Given the description of an element on the screen output the (x, y) to click on. 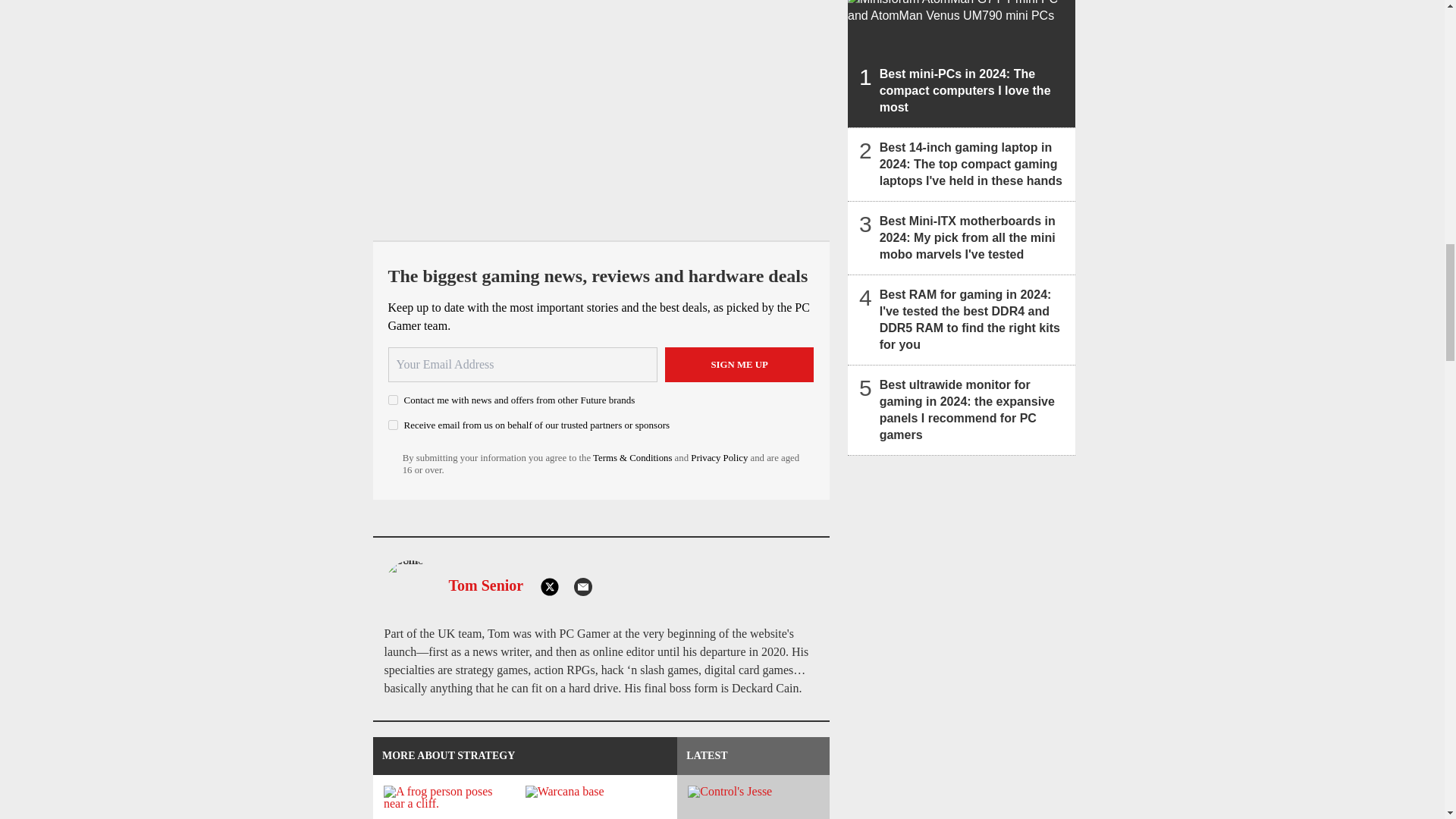
on (392, 399)
on (392, 424)
Sign me up (739, 364)
